Given the description of an element on the screen output the (x, y) to click on. 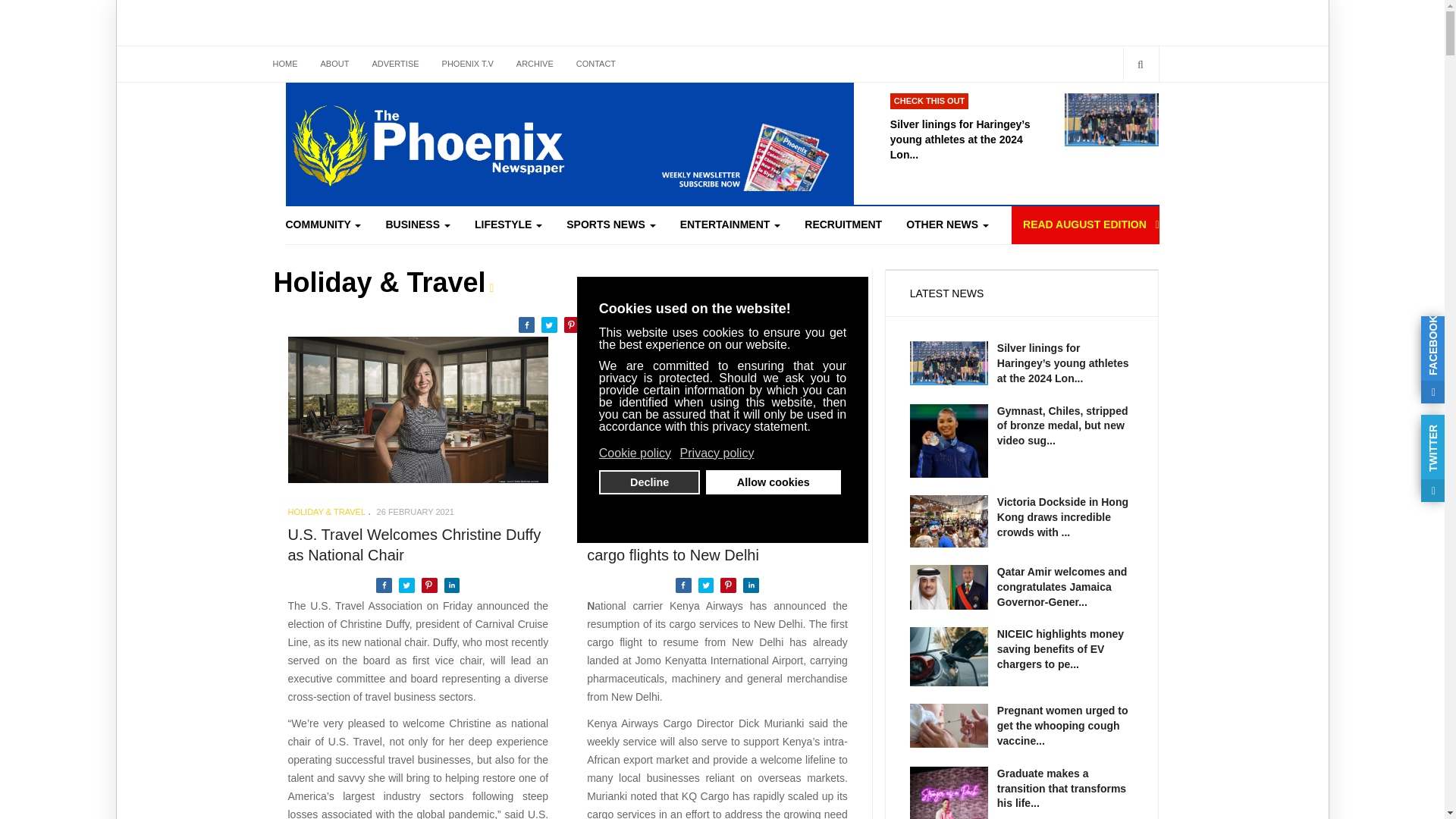
CONTACT (595, 63)
Allow cookies (772, 482)
HOME (284, 63)
Cookie policy (635, 452)
COMMUNITY (328, 225)
PHOENIX T.V (467, 63)
Decline (649, 482)
Subscribe to newsletter (718, 147)
ABOUT (334, 63)
